Given the description of an element on the screen output the (x, y) to click on. 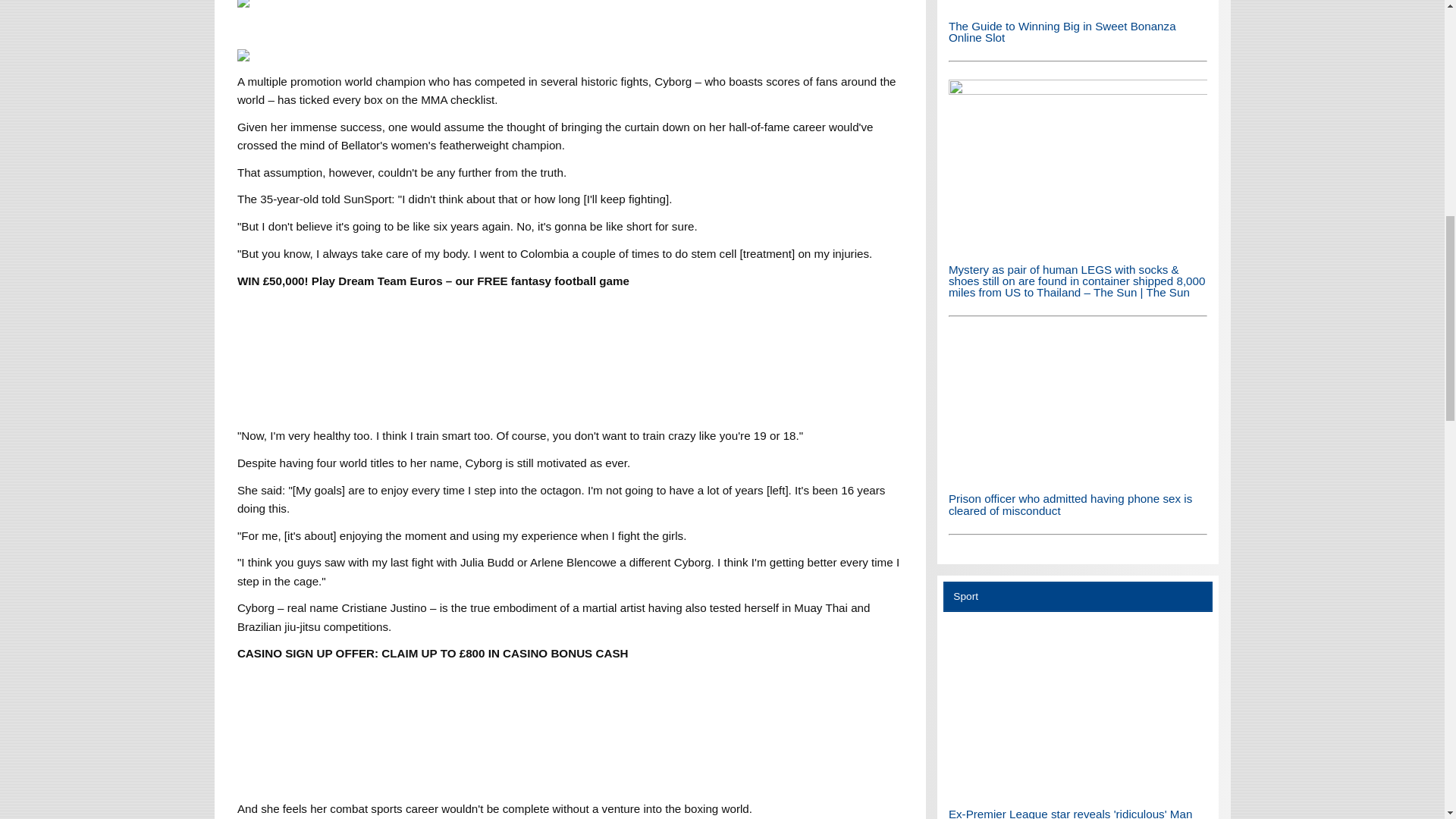
The Guide to Winning Big in Sweet Bonanza Online Slot (1078, 4)
The Guide to Winning Big in Sweet Bonanza Online Slot (1062, 31)
